Given the description of an element on the screen output the (x, y) to click on. 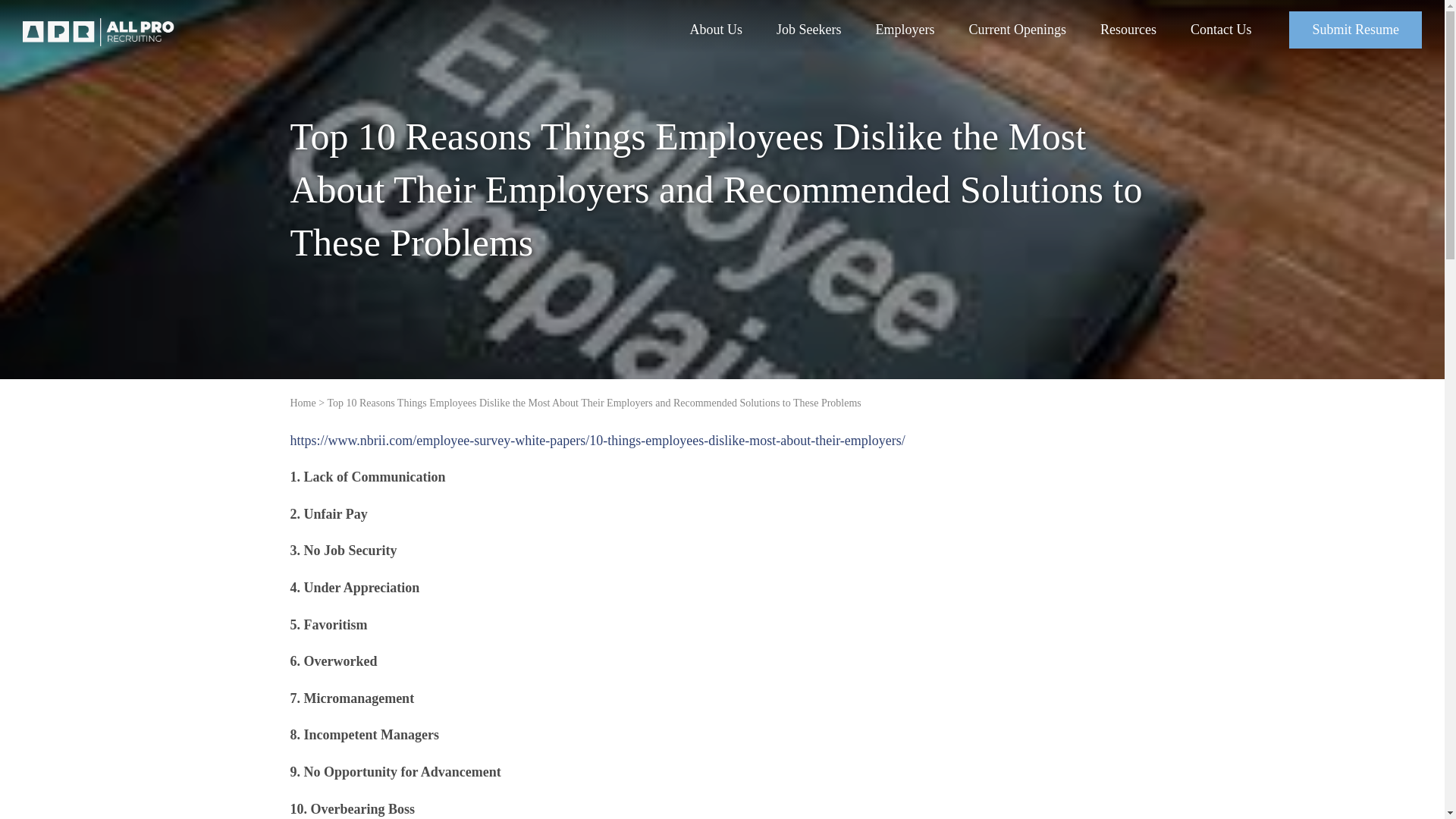
Submit Resume (1355, 29)
Employers (905, 29)
Current Openings (1017, 29)
Home (302, 402)
Hiring Manager Advice (1161, 66)
Resources (1128, 29)
Job Seekers (808, 29)
Contact Us (1221, 29)
About Us (716, 29)
Job Seeker Advice (1147, 66)
